Given the description of an element on the screen output the (x, y) to click on. 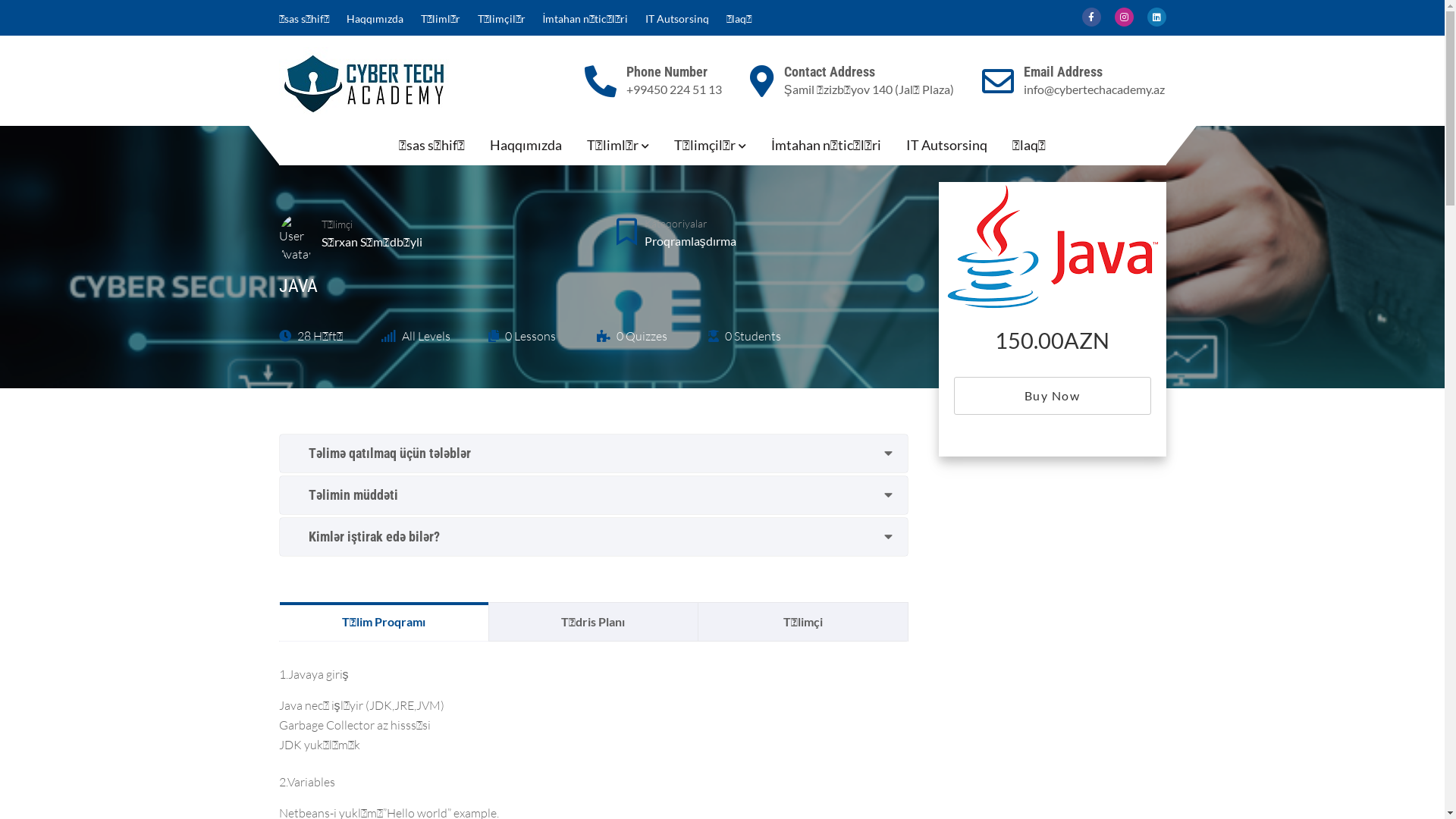
CyberTech Element type: text (337, 132)
IT Autsorsinq Element type: text (677, 18)
JAVA Element type: hover (1052, 245)
info@cybertechacademy.az Element type: text (1093, 89)
Buy Now Element type: text (1052, 395)
IT Autsorsinq Element type: text (946, 144)
+99450 224 51 13 Element type: text (673, 89)
